Given the description of an element on the screen output the (x, y) to click on. 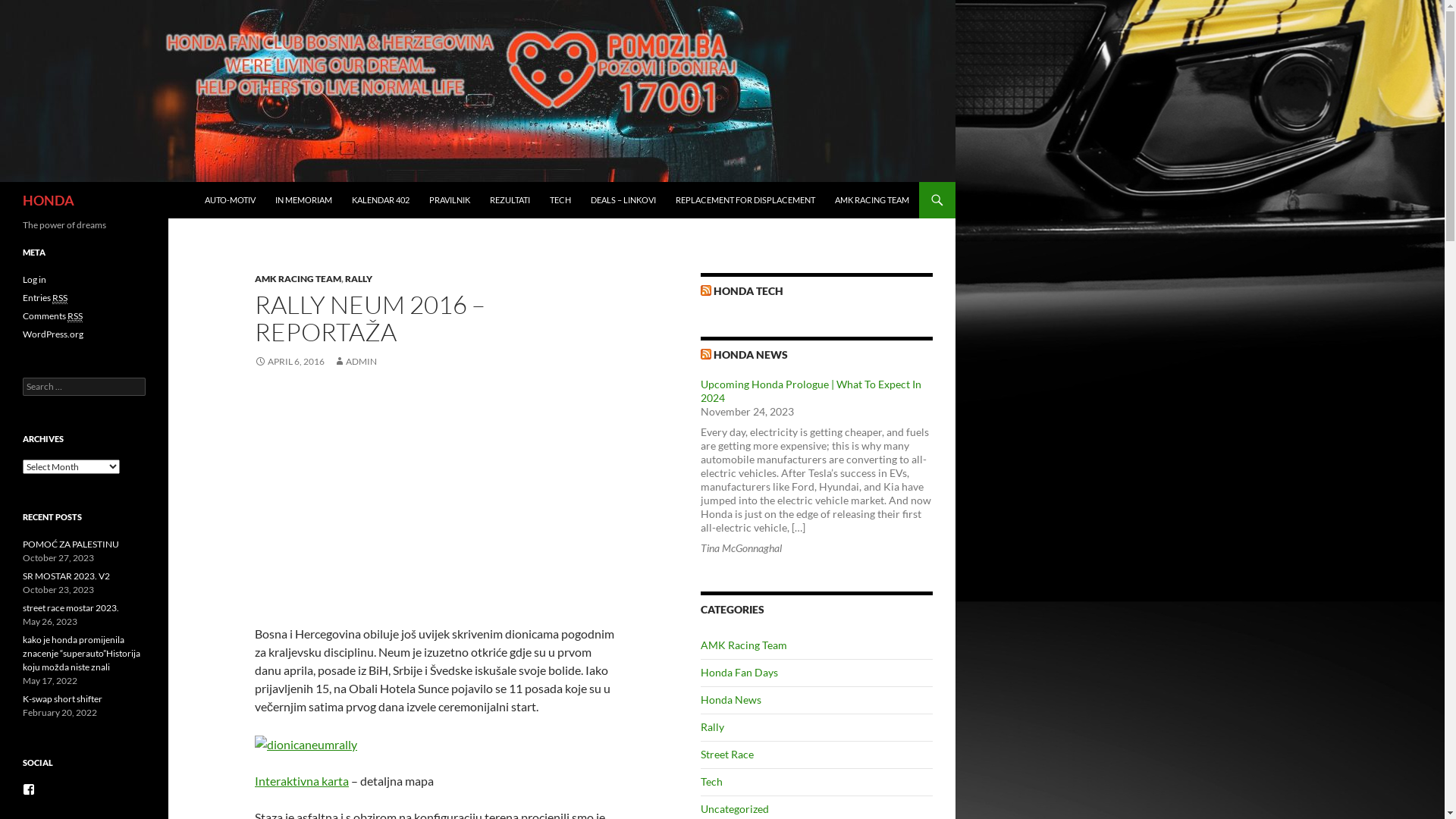
AUTO-MOTIV Element type: text (229, 200)
Honda News Element type: text (730, 699)
HONDA Element type: text (48, 200)
PRAVILNIK Element type: text (449, 200)
APRIL 6, 2016 Element type: text (289, 361)
WordPress.org Element type: text (52, 333)
RALLY Element type: text (358, 278)
AMK RACING TEAM Element type: text (871, 200)
Upcoming Honda Prologue | What To Expect In 2024 Element type: text (810, 390)
Log in Element type: text (34, 279)
Interaktivna karta Element type: text (301, 780)
Search Element type: text (3, 182)
Street Race Element type: text (726, 753)
Comments RSS Element type: text (52, 316)
K-swap short shifter Element type: text (62, 698)
REPLACEMENT FOR DISPLACEMENT Element type: text (745, 200)
KALENDAR 402 Element type: text (380, 200)
Entries RSS Element type: text (44, 297)
SKIP TO CONTENT Element type: text (204, 182)
Tech Element type: text (711, 781)
Uncategorized Element type: text (734, 808)
AMK RACING TEAM Element type: text (297, 278)
TECH Element type: text (560, 200)
Search Element type: text (29, 9)
Rally Element type: text (712, 726)
Honda Fan Days Element type: text (739, 671)
HONDA TECH Element type: text (748, 290)
SR MOSTAR 2023. V2 Element type: text (65, 575)
ADMIN Element type: text (354, 361)
IN MEMORIAM Element type: text (303, 200)
AMK Racing Team Element type: text (743, 644)
REZULTATI Element type: text (509, 200)
HONDA NEWS Element type: text (750, 354)
street race mostar 2023. Element type: text (70, 607)
